Given the description of an element on the screen output the (x, y) to click on. 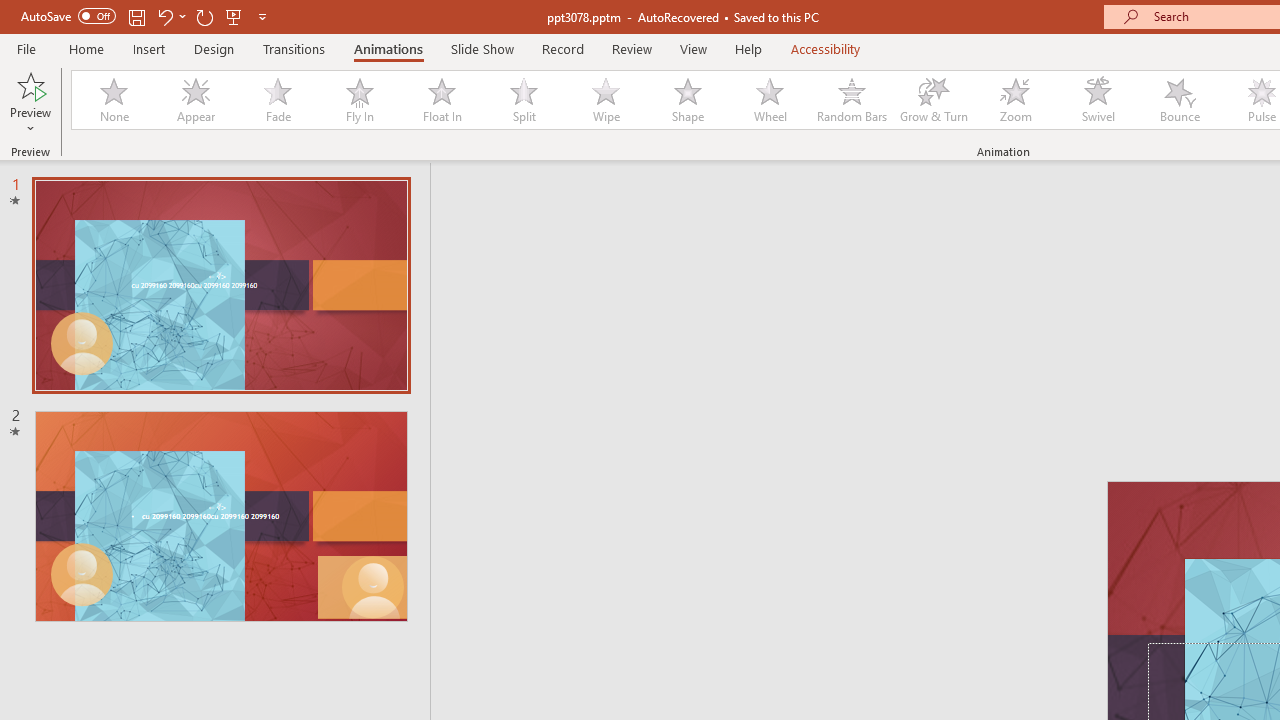
Swivel (1098, 100)
None (113, 100)
Grow & Turn (934, 100)
Bounce (1180, 100)
Fade (277, 100)
Appear (195, 100)
Float In (441, 100)
